Given the description of an element on the screen output the (x, y) to click on. 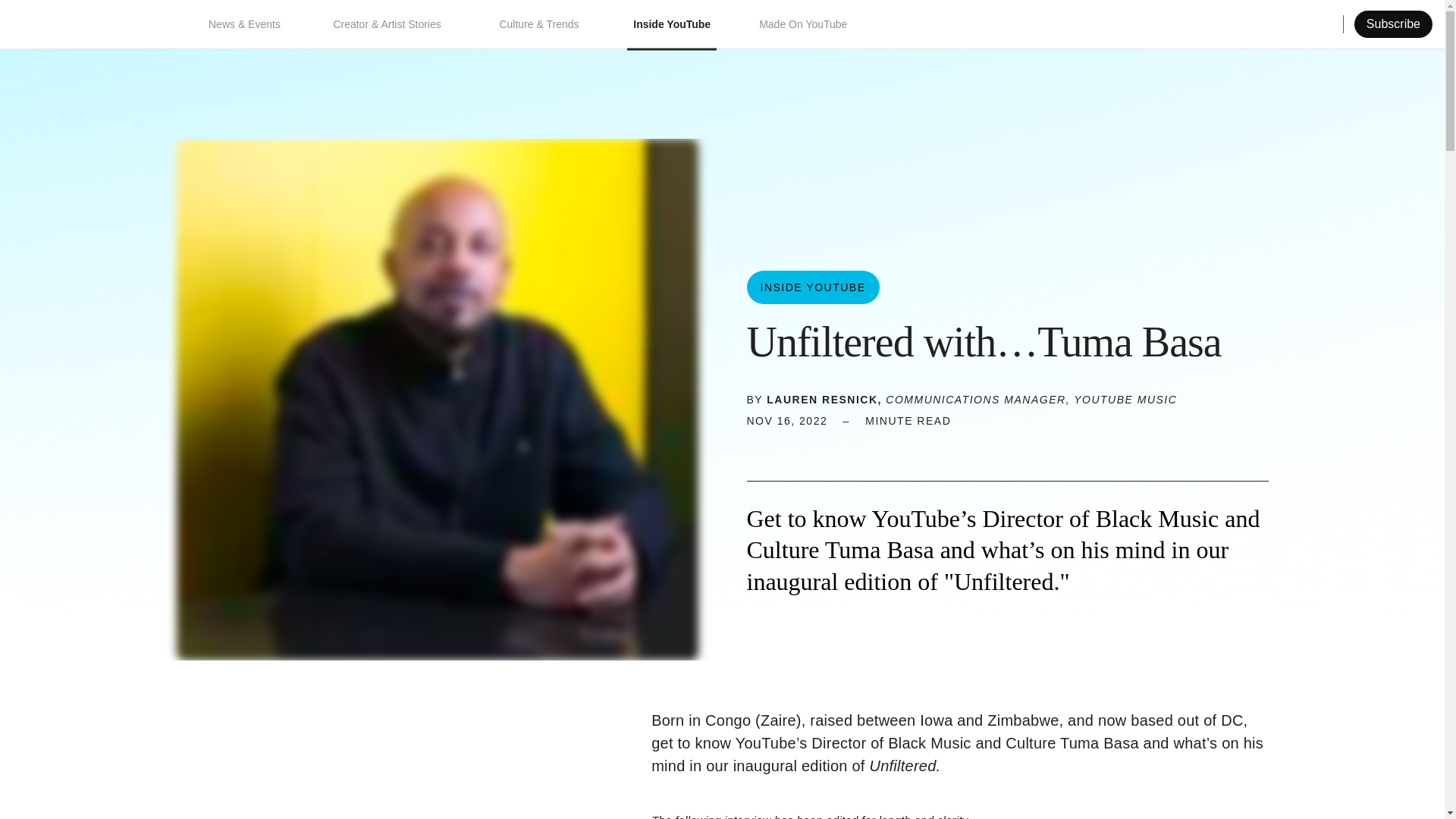
Inside YouTube (671, 24)
Inside YouTube (671, 24)
Made On YouTube (804, 24)
Copy link (1375, 24)
INSIDE YOUTUBE (812, 287)
YouTube Official Blog (90, 24)
Copy link (839, 444)
Made On YouTube (804, 24)
Inside YouTube (812, 287)
Copy link (1375, 24)
Copy link (839, 444)
Subscribe (1393, 23)
